Given the description of an element on the screen output the (x, y) to click on. 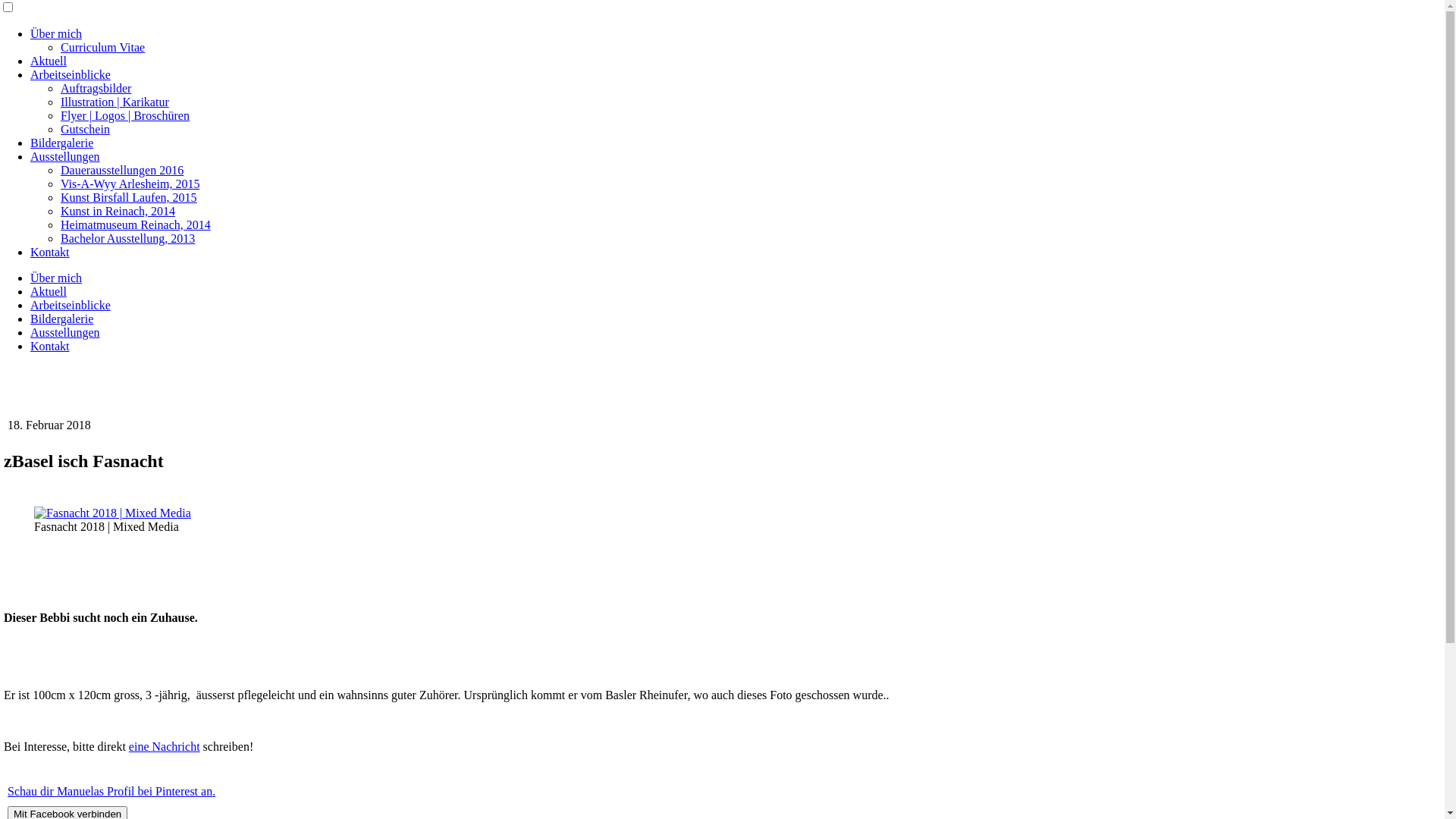
Curriculum Vitae Element type: text (102, 46)
Kunst in Reinach, 2014 Element type: text (117, 210)
Arbeitseinblicke Element type: text (70, 74)
Heimatmuseum Reinach, 2014 Element type: text (135, 224)
Dauerausstellungen 2016 Element type: text (121, 169)
Aktuell Element type: text (48, 291)
Aktuell Element type: text (48, 60)
Bildergalerie Element type: text (61, 142)
Illustration | Karikatur Element type: text (114, 101)
Bachelor Ausstellung, 2013 Element type: text (127, 238)
Kontakt Element type: text (49, 345)
Arbeitseinblicke Element type: text (70, 304)
Ausstellungen Element type: text (65, 156)
Gutschein Element type: text (84, 128)
Schau dir Manuelas Profil bei Pinterest an. Element type: text (111, 790)
Bildergalerie Element type: text (61, 318)
Ausstellungen Element type: text (65, 332)
Vis-A-Wyy Arlesheim, 2015 Element type: text (129, 183)
eine Nachricht Element type: text (164, 746)
Kontakt Element type: text (49, 251)
Kunst Birsfall Laufen, 2015 Element type: text (128, 197)
Auftragsbilder Element type: text (95, 87)
